Given the description of an element on the screen output the (x, y) to click on. 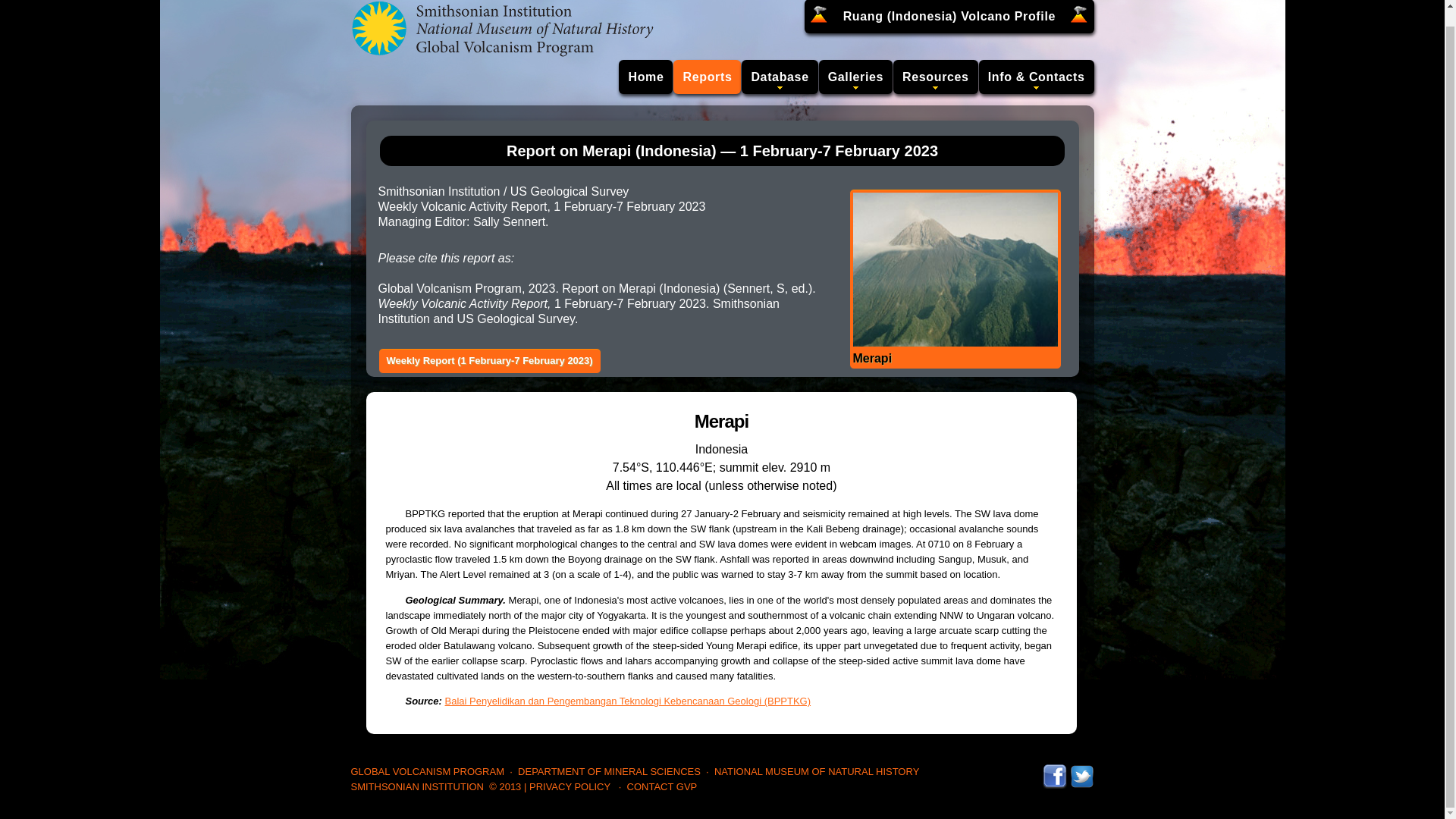
Facebook (1054, 771)
Twitter (1080, 771)
Send email to GVP (662, 786)
Merapi (954, 278)
Home (645, 76)
Link to Copyright Notice (505, 786)
Database (778, 76)
Resources (935, 76)
Link to Privacy Notice (569, 786)
Galleries (855, 76)
Reports (706, 76)
